Given the description of an element on the screen output the (x, y) to click on. 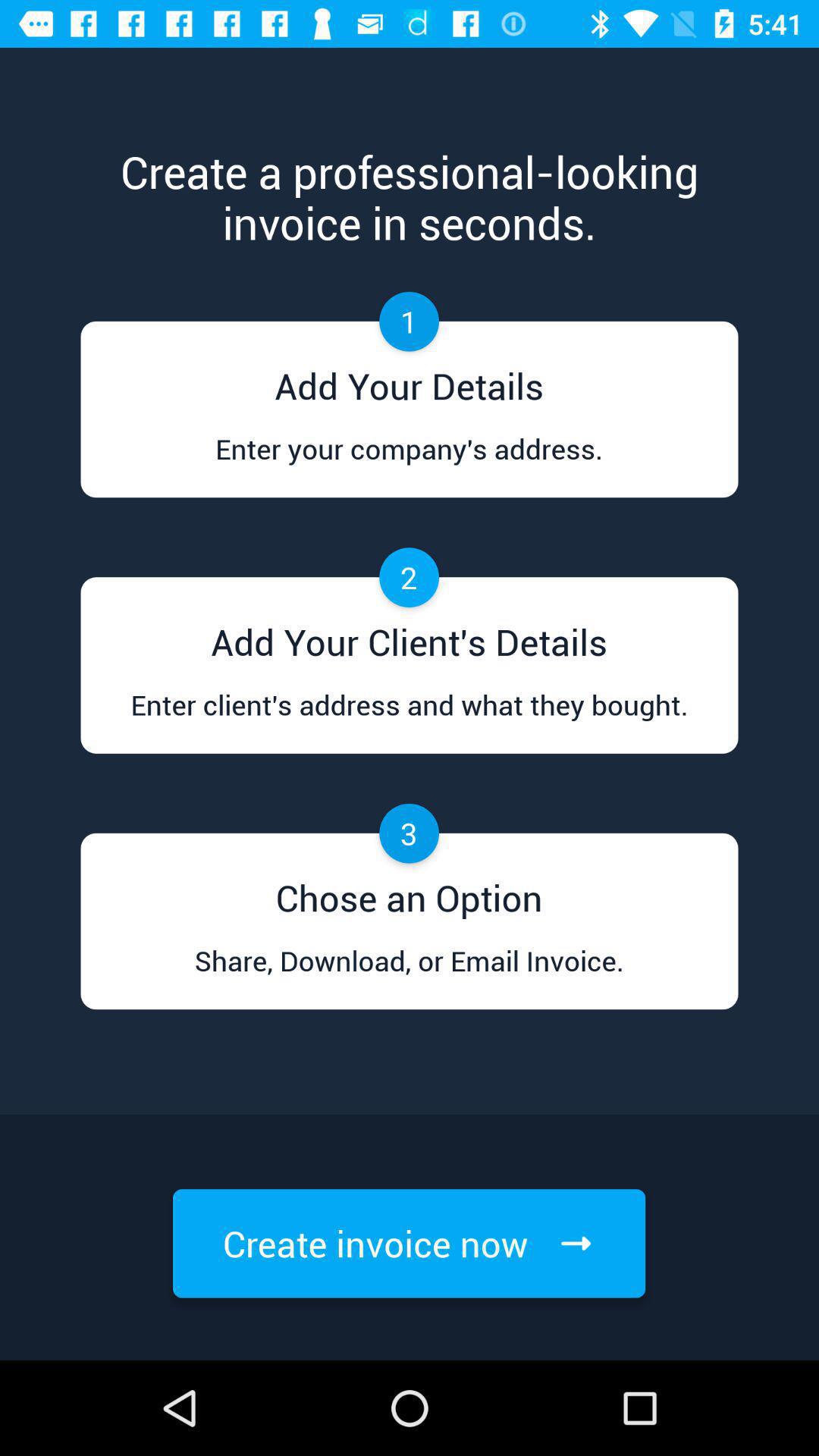
choose icon below add your details (408, 463)
